Given the description of an element on the screen output the (x, y) to click on. 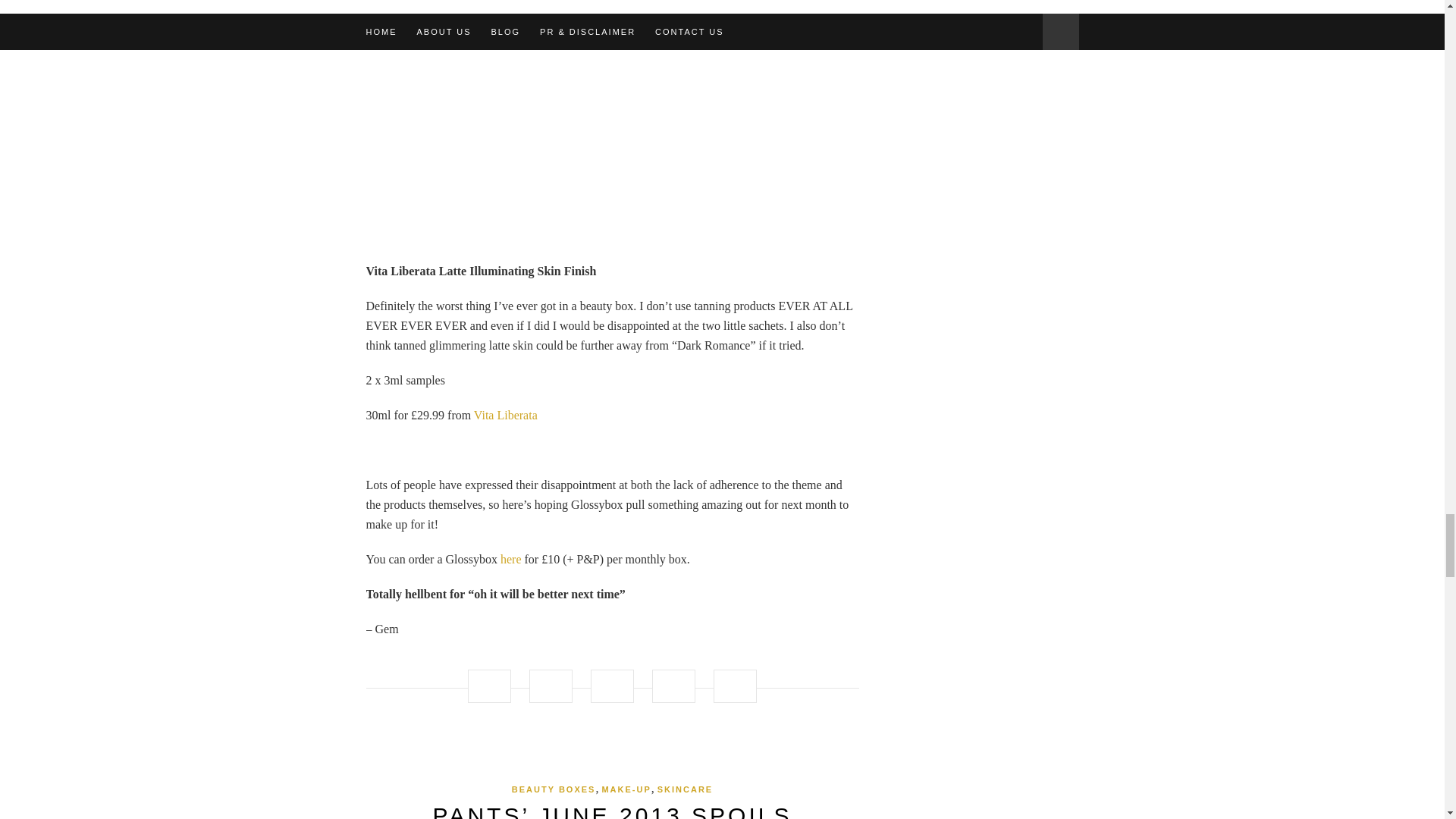
View all posts in Make-up (625, 788)
View all posts in Skincare (685, 788)
View all posts in Beauty Boxes (553, 788)
